Given the description of an element on the screen output the (x, y) to click on. 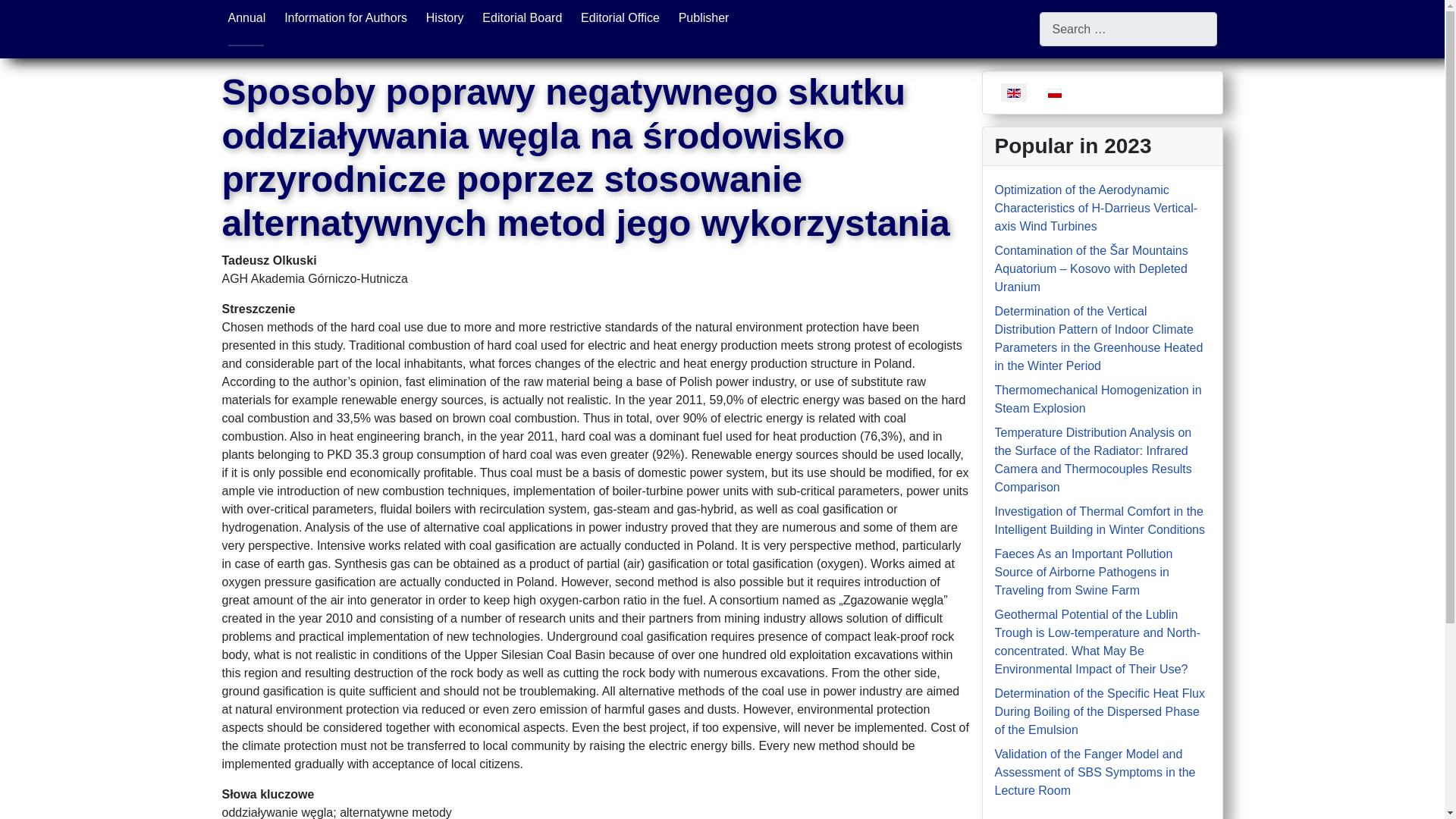
Annual (245, 17)
Information for Authors (345, 17)
History (445, 17)
Publisher (703, 17)
Editorial Office (619, 17)
Annual (245, 17)
Editorial Board (521, 17)
